Given the description of an element on the screen output the (x, y) to click on. 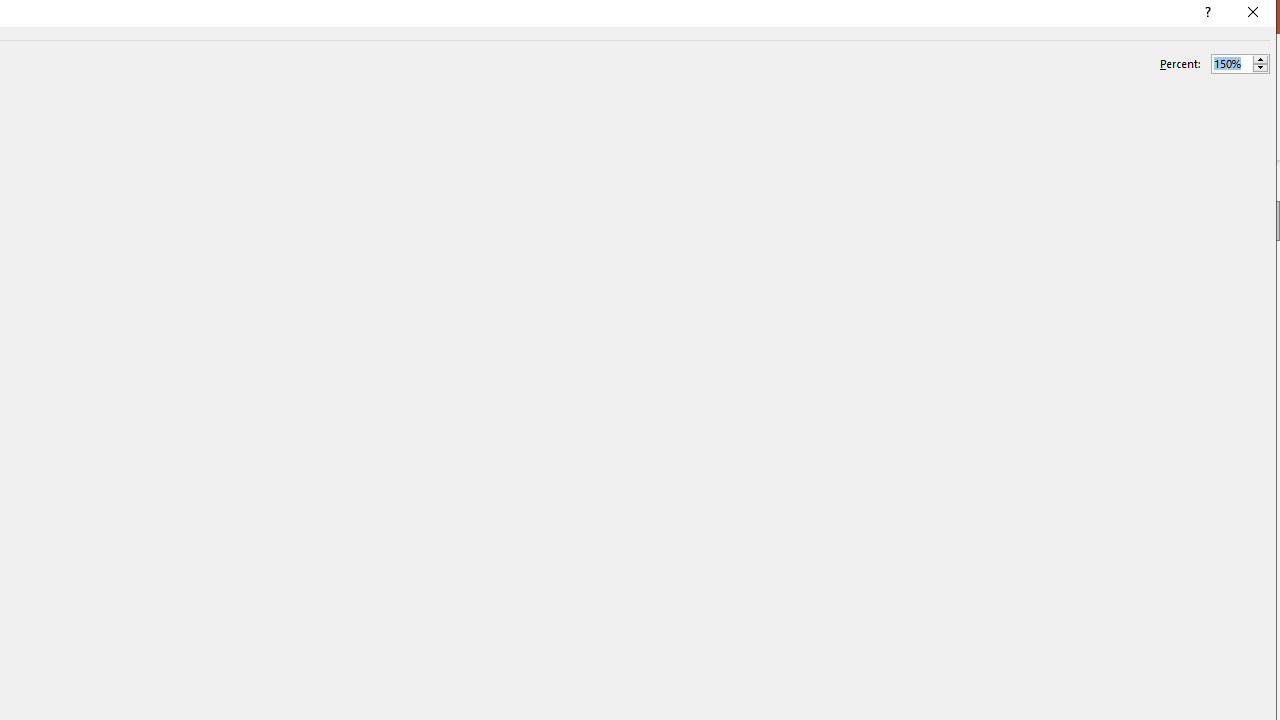
Less (1259, 68)
Percent (1231, 63)
Context help (1206, 14)
Percent (1239, 64)
More (1259, 59)
